Given the description of an element on the screen output the (x, y) to click on. 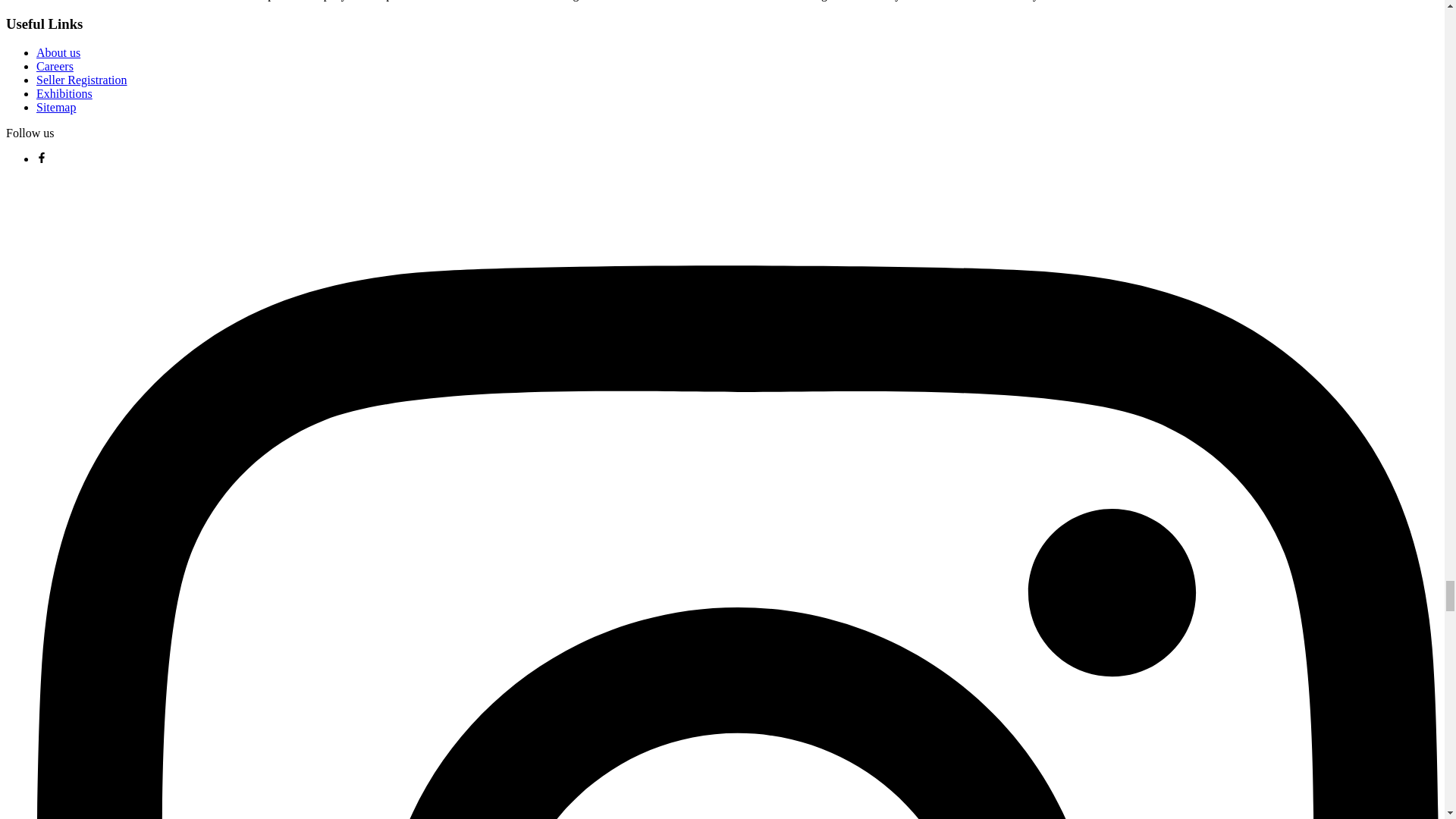
Seller Registration (82, 79)
About us (58, 51)
Exhibitions (64, 92)
Careers (55, 65)
Sitemap (55, 106)
